Given the description of an element on the screen output the (x, y) to click on. 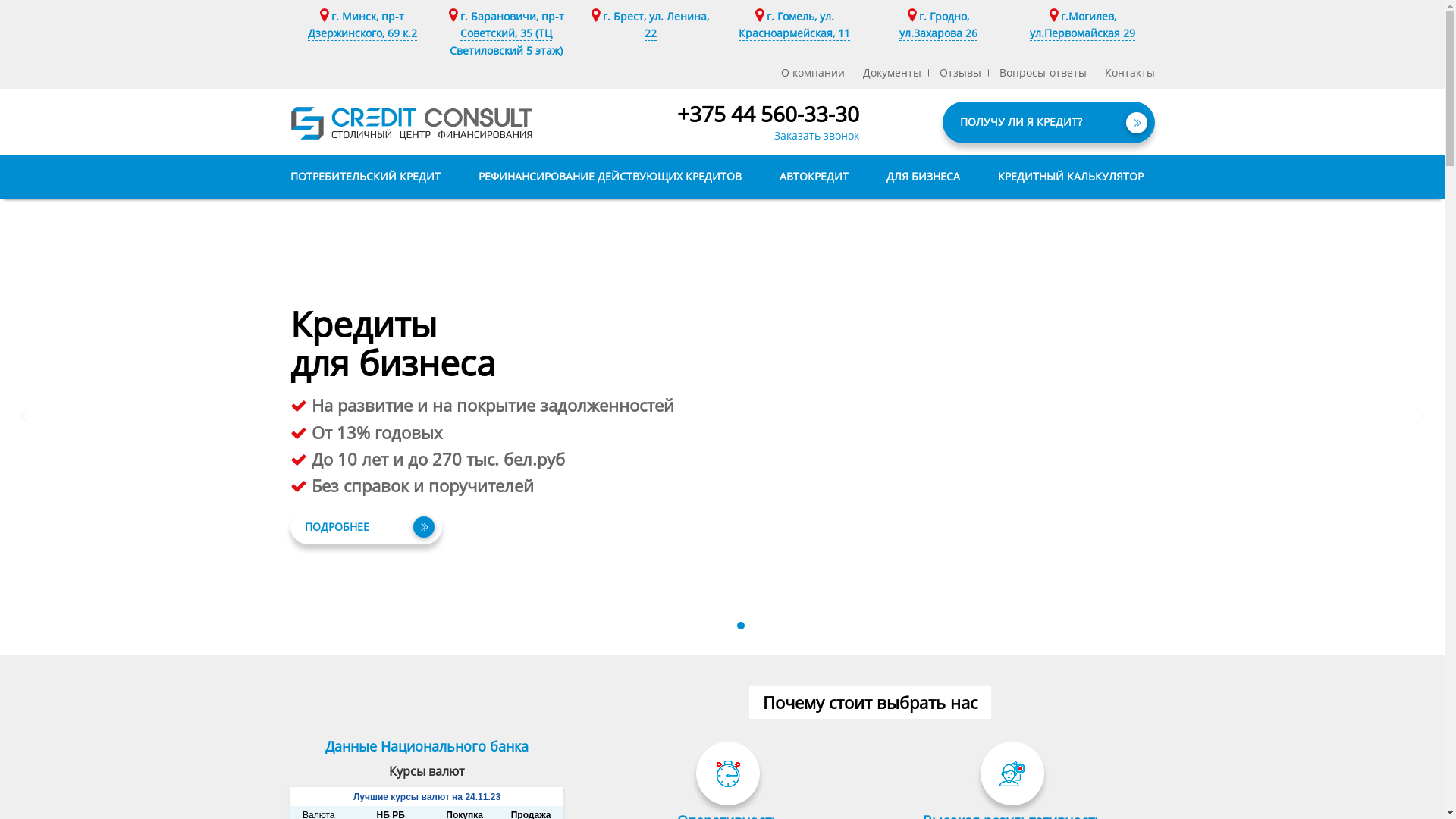
+375 44 560-33-30 Element type: text (767, 114)
